Given the description of an element on the screen output the (x, y) to click on. 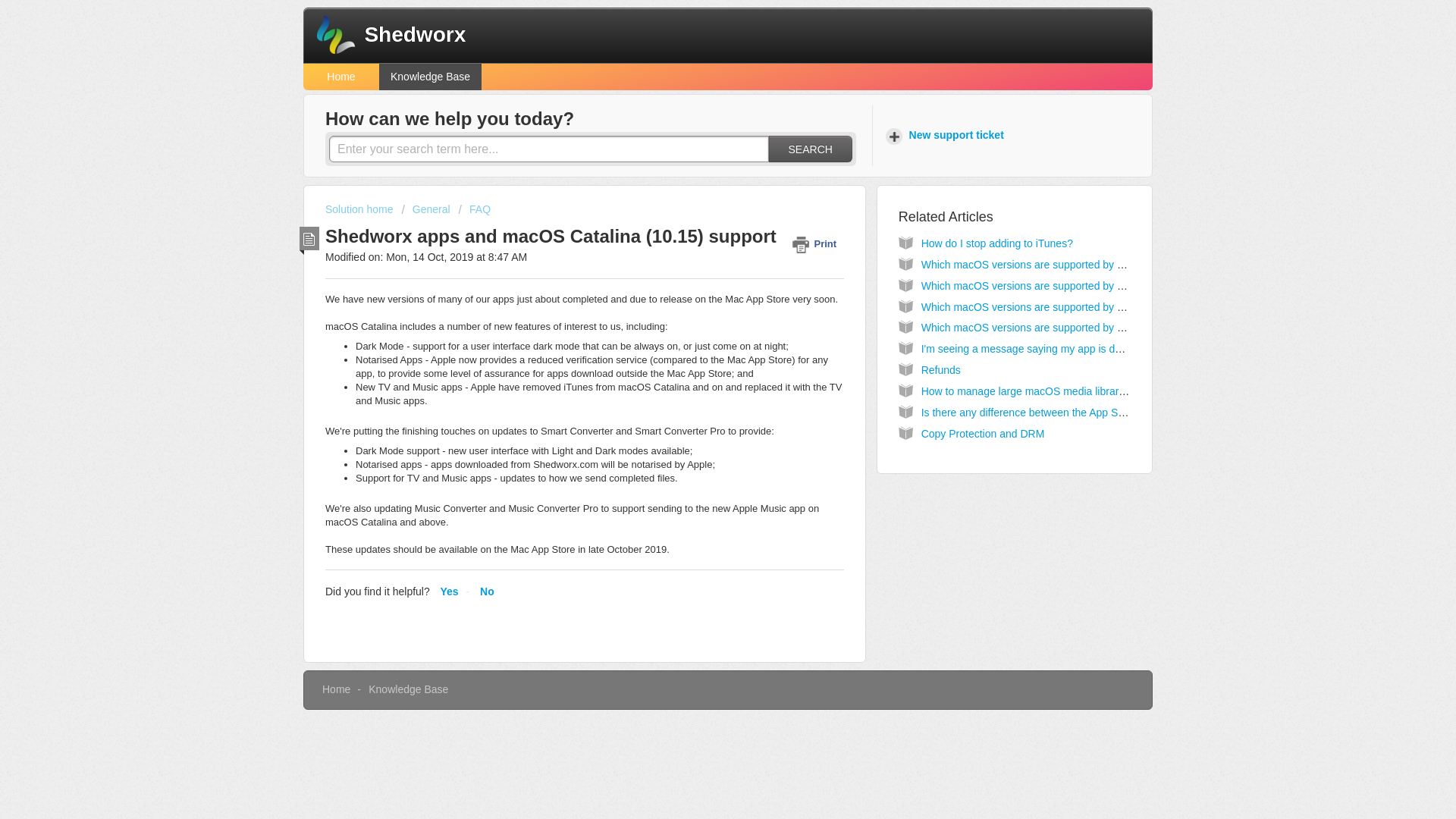
General (425, 209)
FAQ (474, 209)
Which macOS versions are supported by Smart Converter? (1061, 285)
Which macOS versions are supported by Music Converter Pro? (1070, 327)
Solution home (360, 209)
Home (335, 689)
Which macOS versions are supported by Music Converter? (1060, 306)
Copy Protection and DRM (983, 433)
New support ticket (946, 136)
How do I stop adding to iTunes? (997, 243)
How to manage large macOS media libraries (1026, 390)
Home (340, 76)
Refunds (940, 369)
Which macOS versions are supported by Smart Converter Pro? (1071, 264)
Knowledge Base (429, 76)
